Given the description of an element on the screen output the (x, y) to click on. 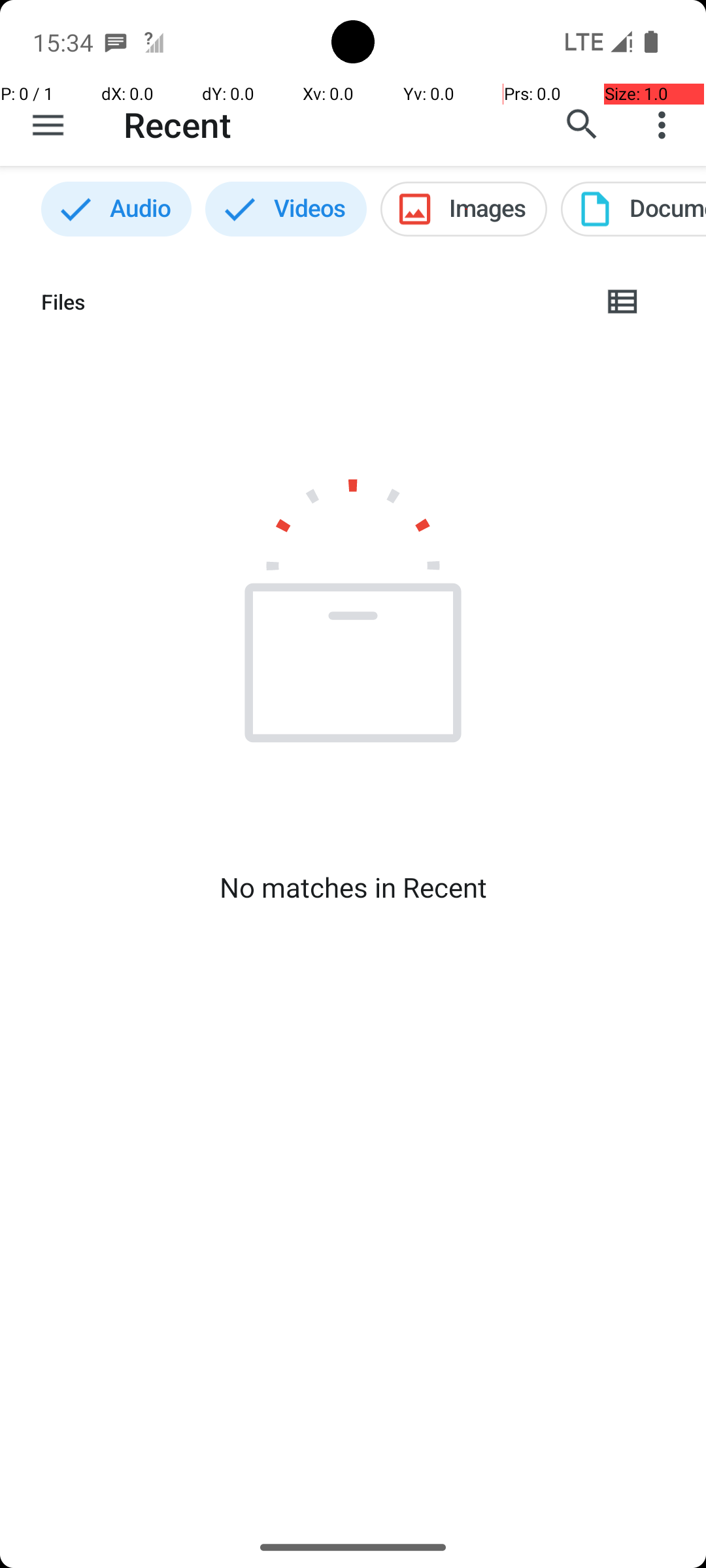
No matches in Recent Element type: android.widget.TextView (352, 886)
